Given the description of an element on the screen output the (x, y) to click on. 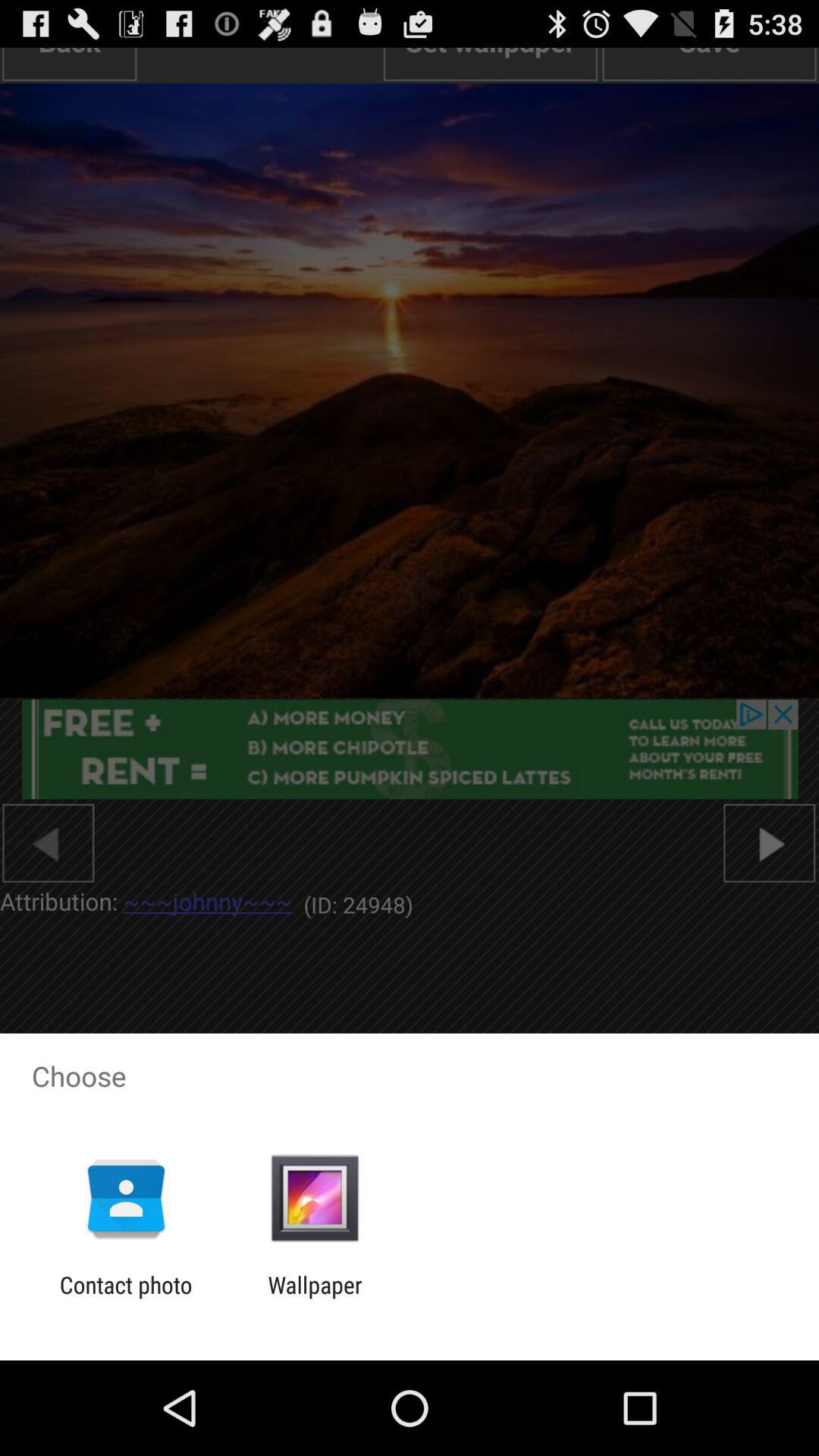
swipe to the contact photo app (125, 1298)
